Given the description of an element on the screen output the (x, y) to click on. 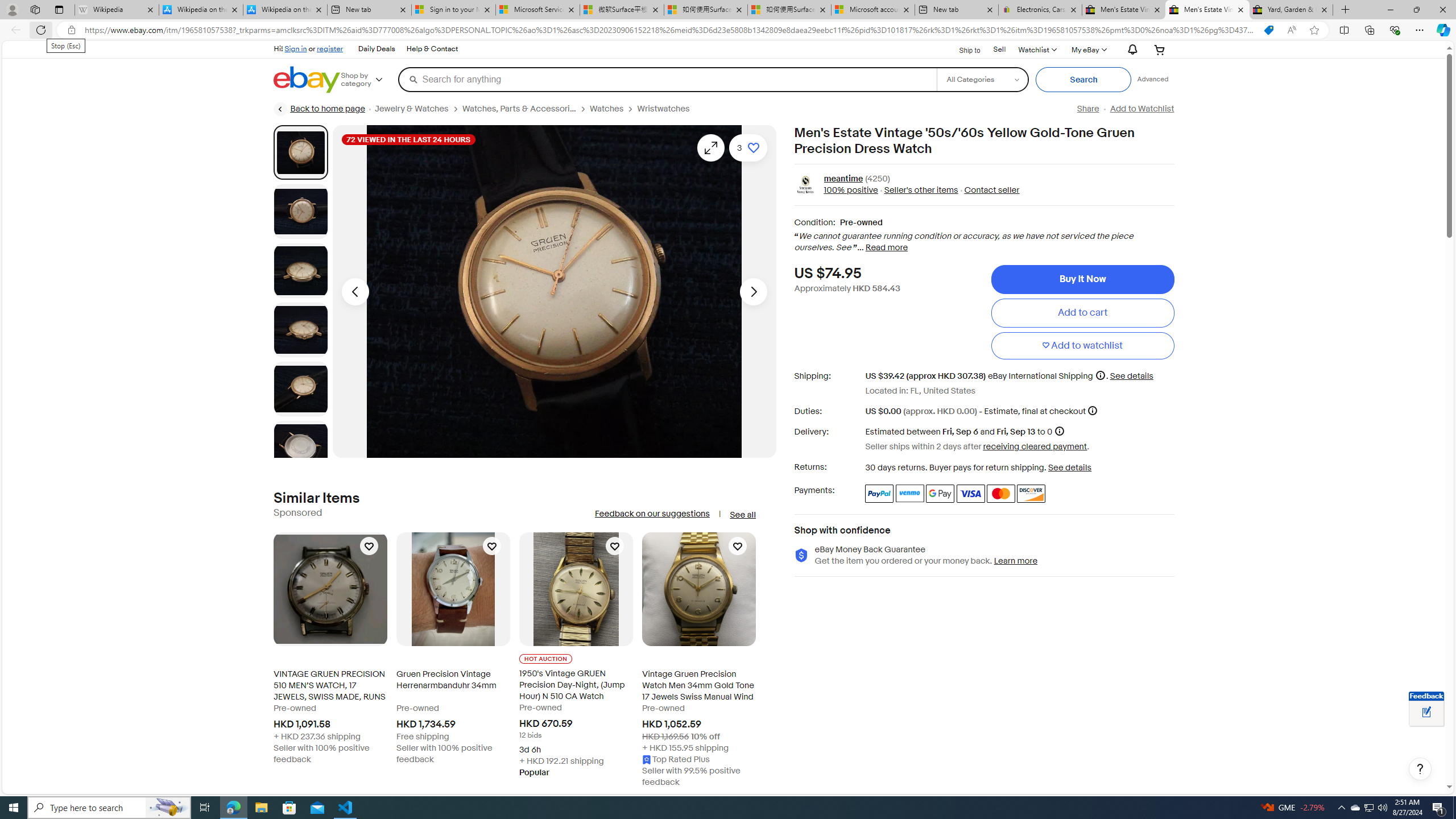
PayPal (878, 493)
See details - for more information about returns (1070, 467)
Add to cart (1082, 312)
Sign in to your Microsoft account (453, 9)
Help & Contact (432, 49)
